Given the description of an element on the screen output the (x, y) to click on. 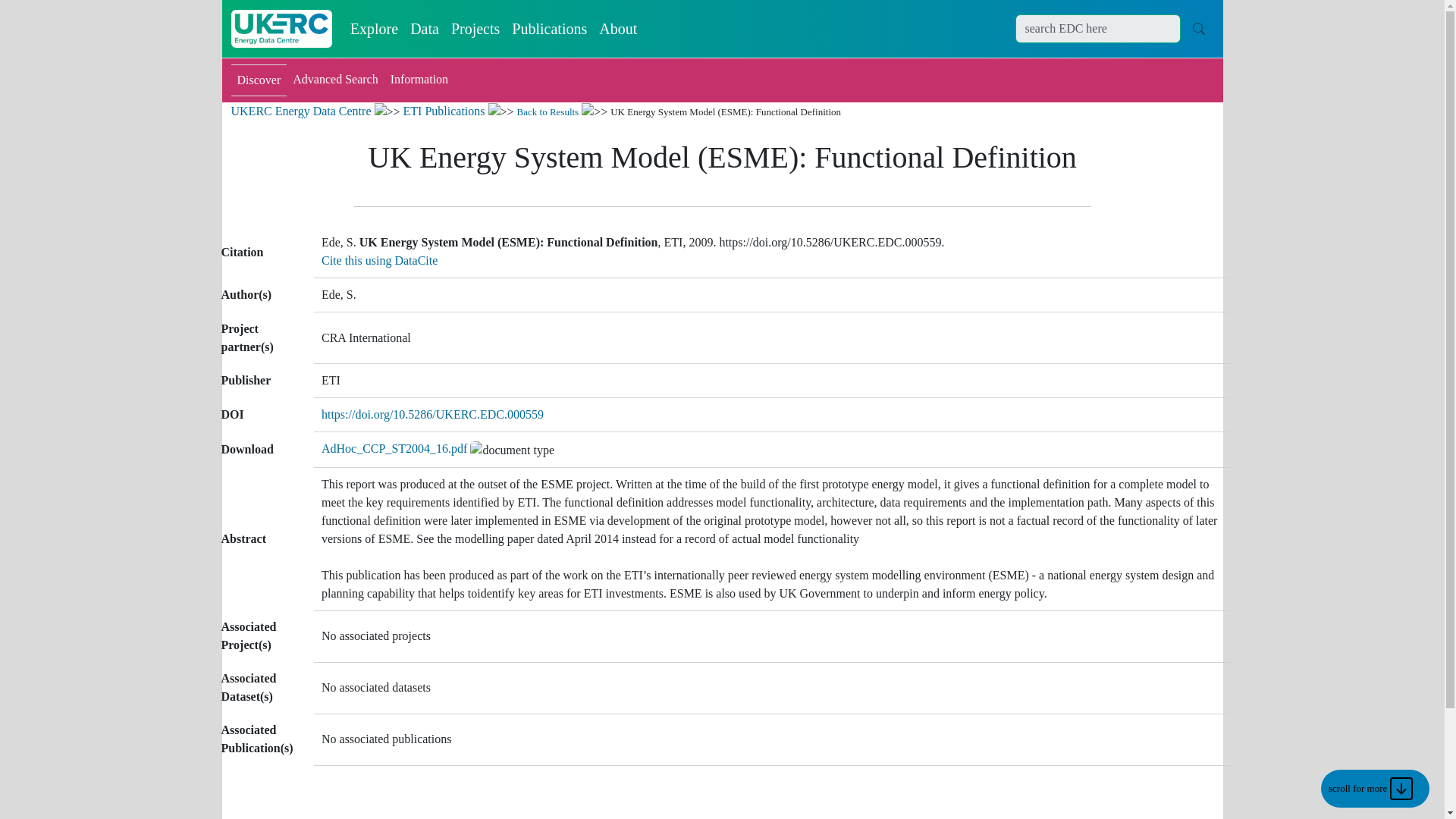
Explore (373, 28)
Data (424, 28)
Information (419, 80)
Discover (258, 80)
About (617, 28)
ETI Publications (443, 110)
Publications (548, 28)
UKERC Energy Data Centre (300, 110)
Cite this using DataCite (379, 259)
scroll for more (1374, 788)
